Given the description of an element on the screen output the (x, y) to click on. 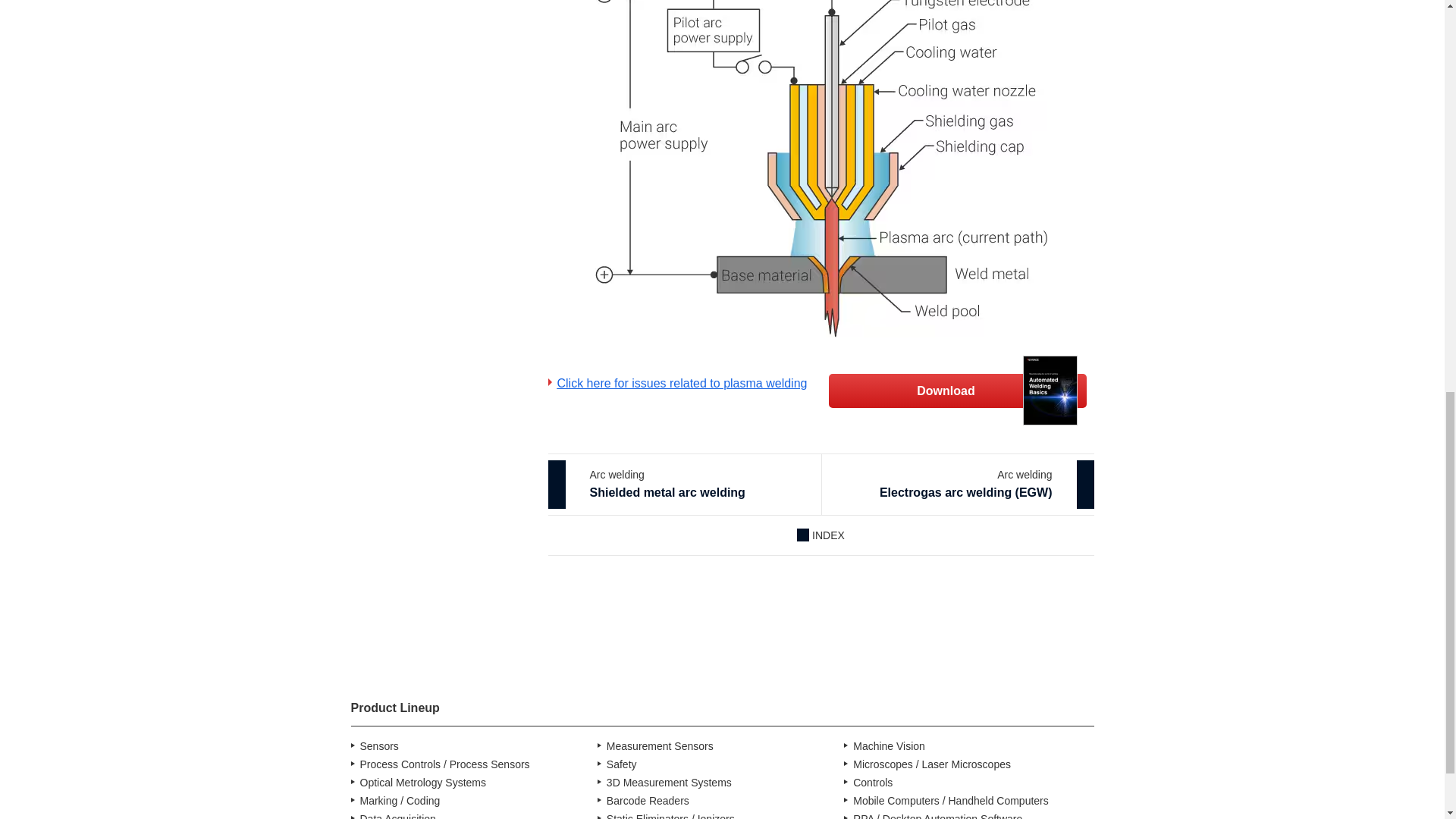
Download (957, 390)
Click here for issues related to plasma welding (684, 484)
INDEX (676, 383)
